Given the description of an element on the screen output the (x, y) to click on. 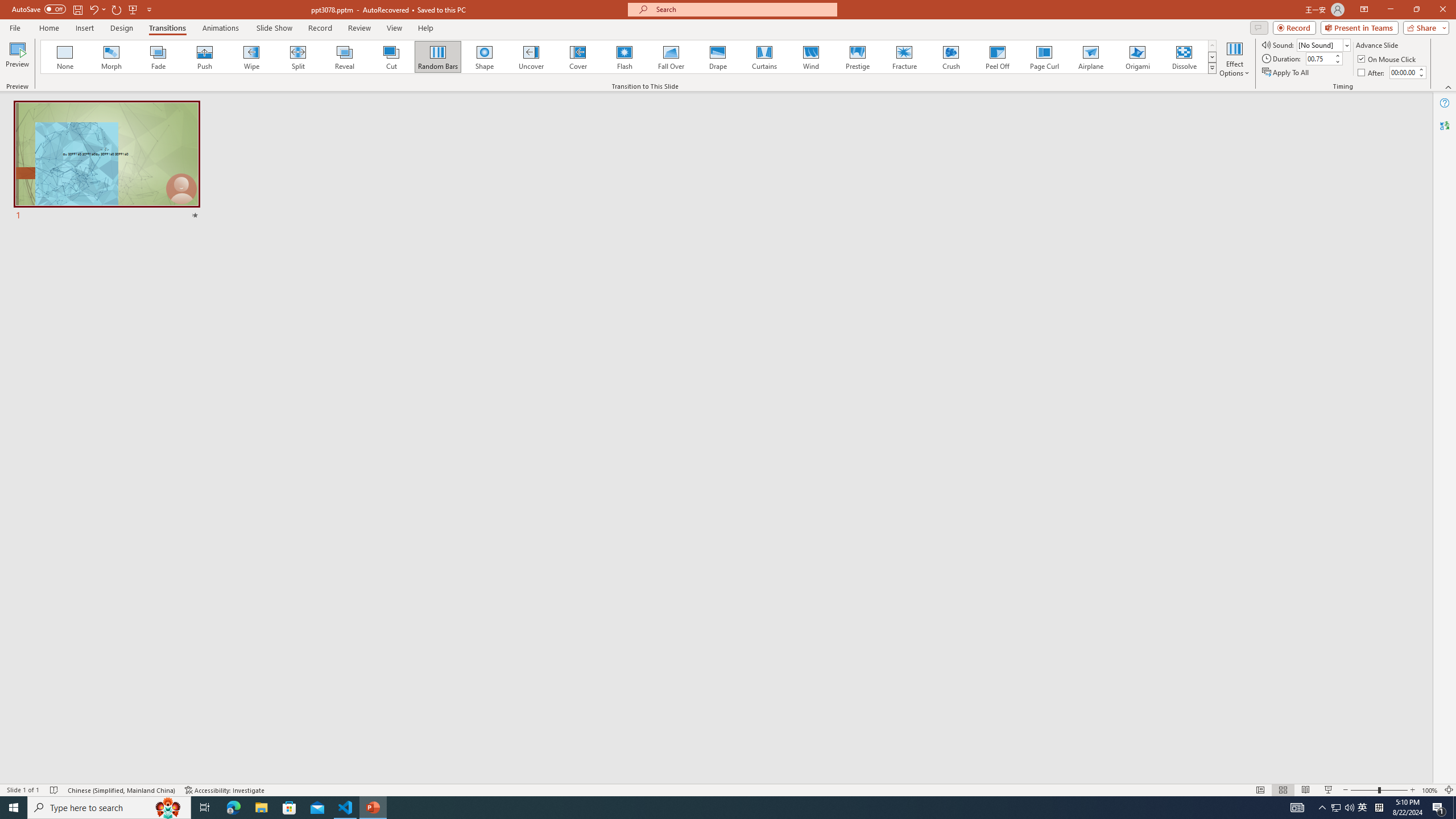
Split (298, 56)
Origami (1136, 56)
Reveal (344, 56)
Push (205, 56)
Cover (577, 56)
